Given the description of an element on the screen output the (x, y) to click on. 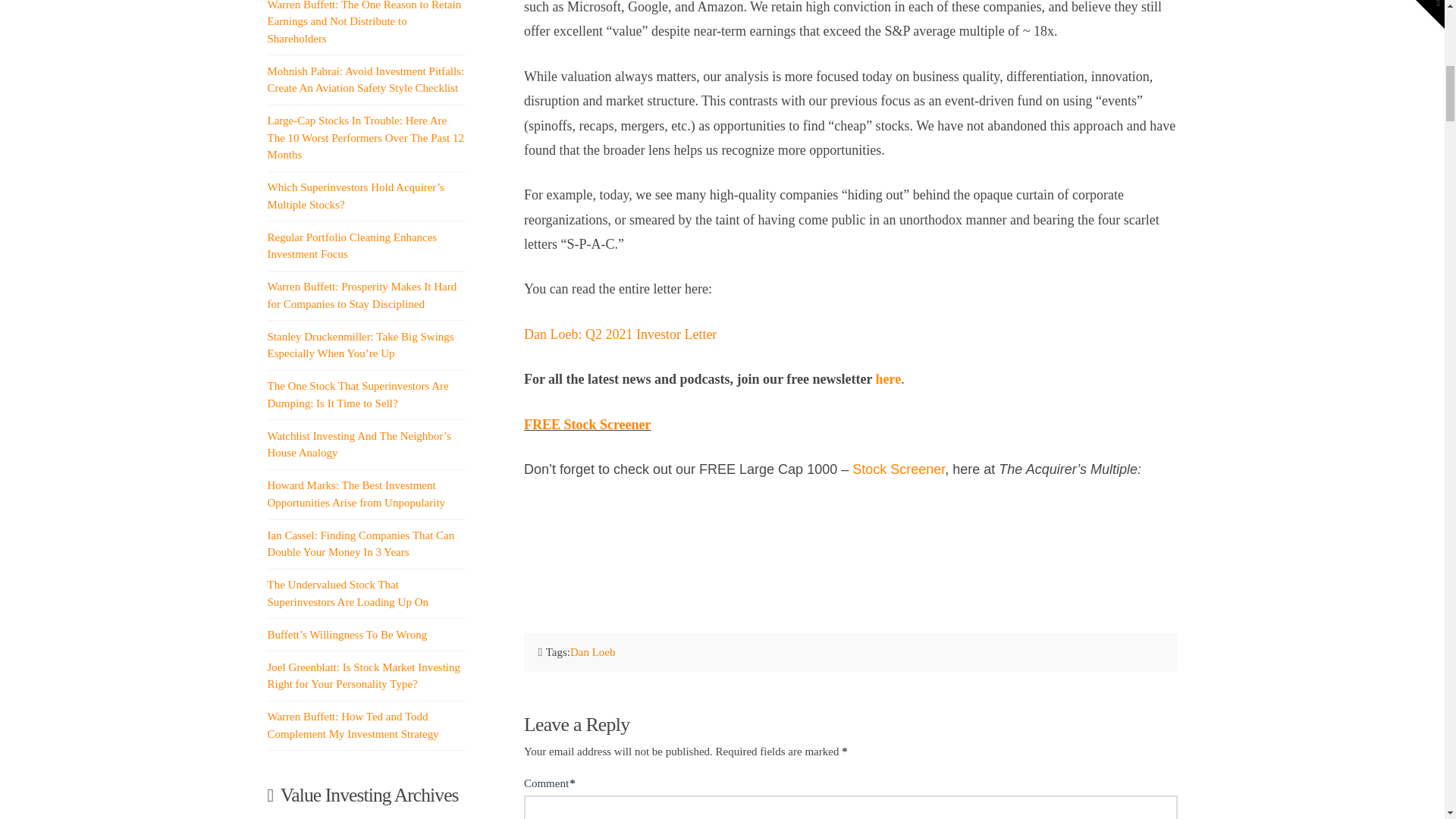
Dan Loeb (592, 652)
Dan Loeb: Q2 2021 Investor Letter (620, 334)
FREE Stock Screener (587, 424)
Stock Screener (897, 468)
here (888, 378)
